Given the description of an element on the screen output the (x, y) to click on. 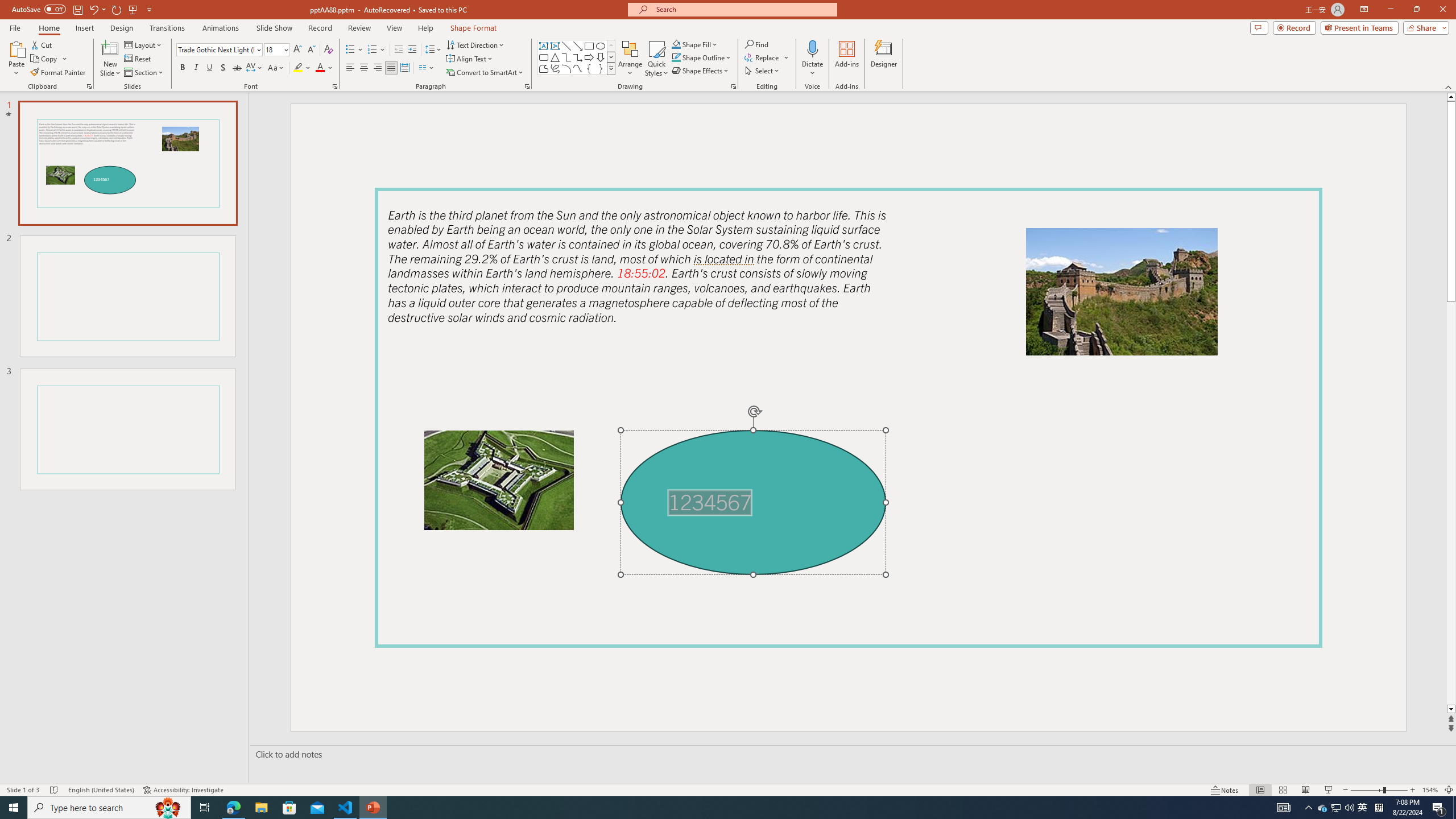
Shape Effects (700, 69)
